Given the description of an element on the screen output the (x, y) to click on. 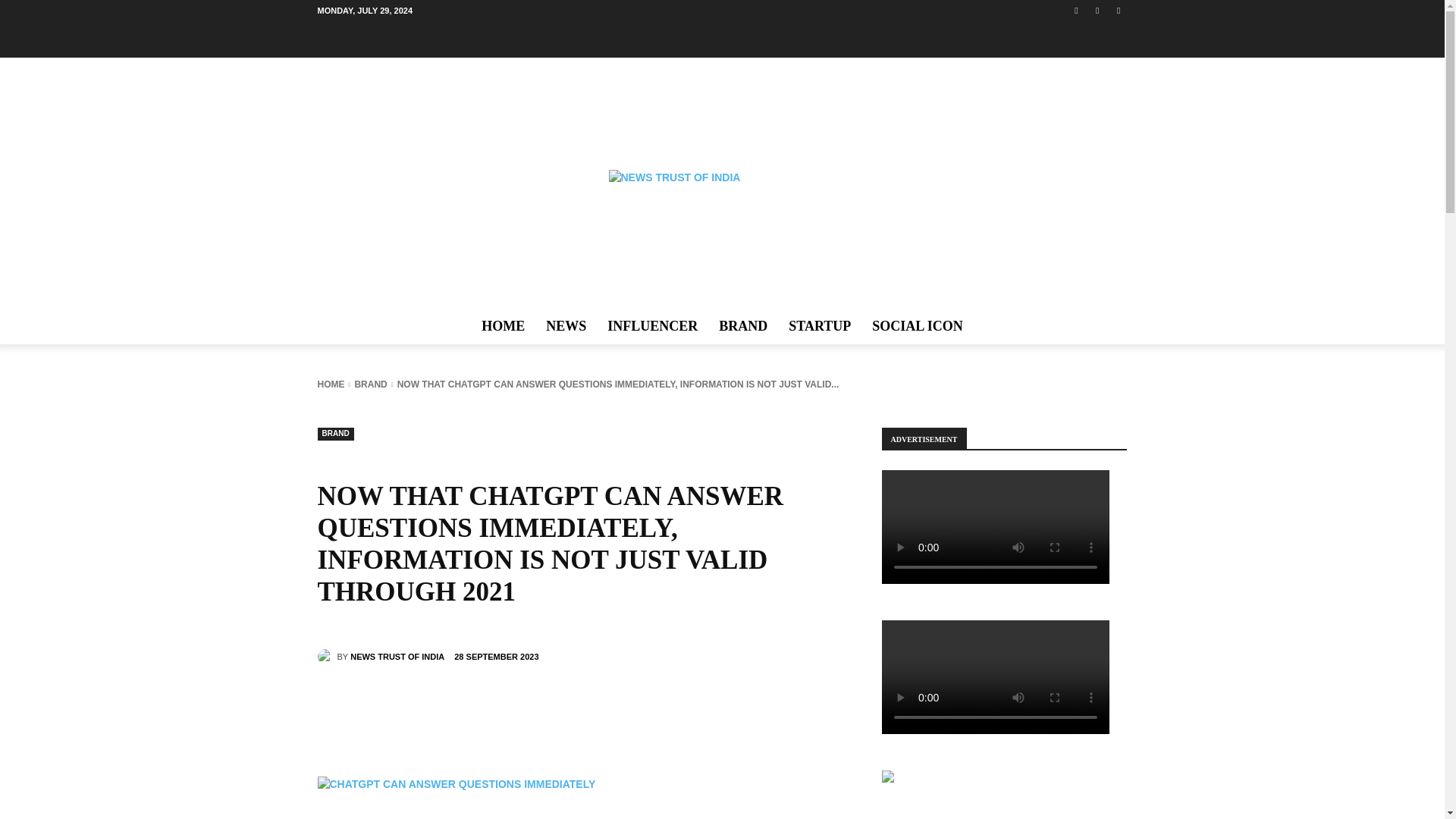
News Trust of India (721, 220)
BRAND (335, 433)
HOME (330, 384)
News Trust of India (721, 220)
ChatGPT can answer questions immediately (580, 797)
Instagram (1097, 9)
STARTUP (819, 325)
SOCIAL ICON (917, 325)
BRAND (370, 384)
HOME (502, 325)
INFLUENCER (651, 325)
NEWS (565, 325)
News Trust of India (326, 656)
BRAND (742, 325)
View all posts in Brand (370, 384)
